Given the description of an element on the screen output the (x, y) to click on. 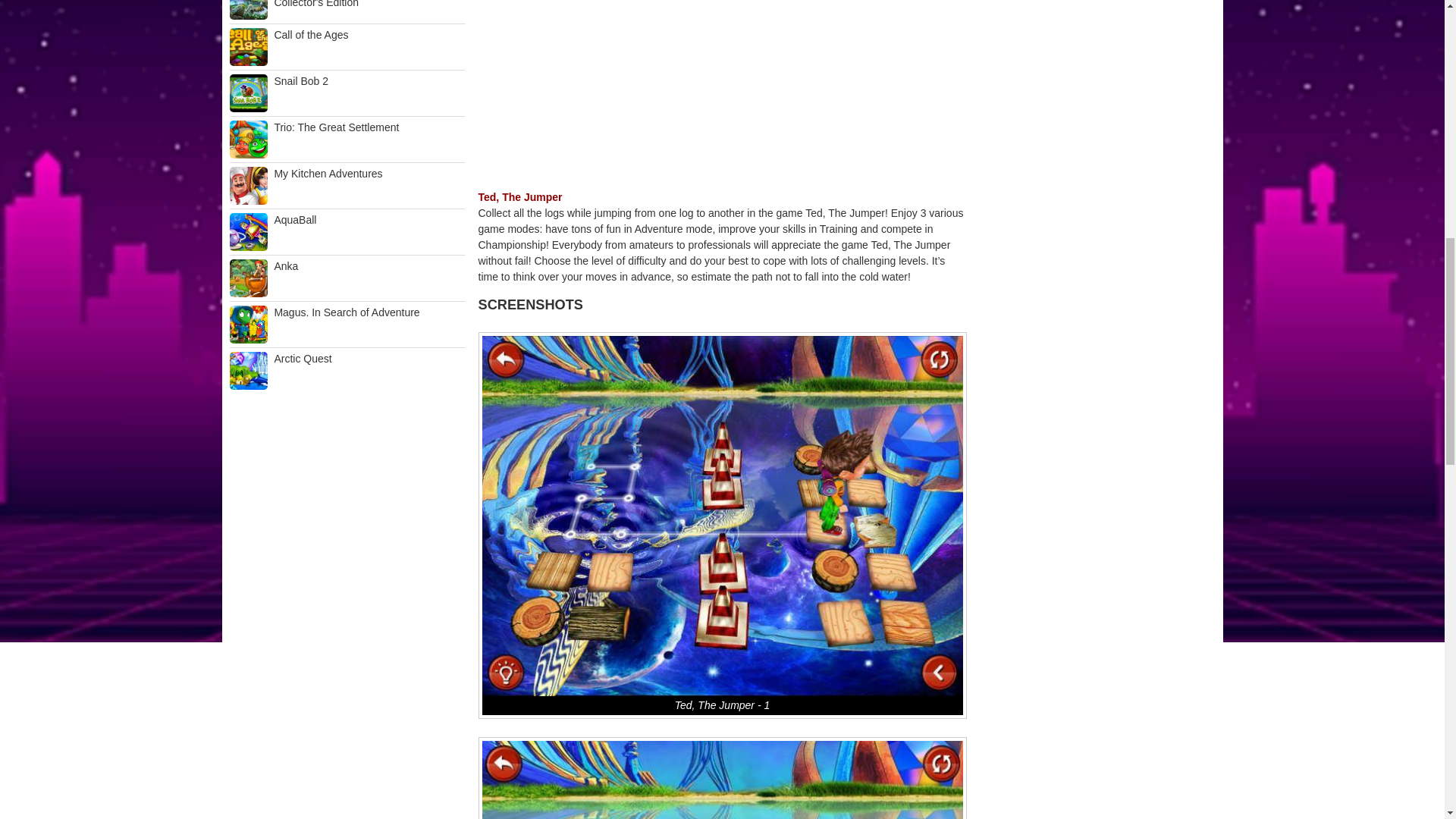
Ted, The Jumper (519, 196)
  Snail Bob 2 (346, 93)
Snail Bob 2 (346, 93)
Darkarta: A Broken Heart's Quest Collector's Edition (346, 9)
AquaBall (346, 231)
  Trio: The Great Settlement (346, 139)
  My Kitchen Adventures (346, 185)
  Anka (346, 278)
  Magus. In Search of Adventure (346, 324)
  Call of the Ages (346, 46)
